Given the description of an element on the screen output the (x, y) to click on. 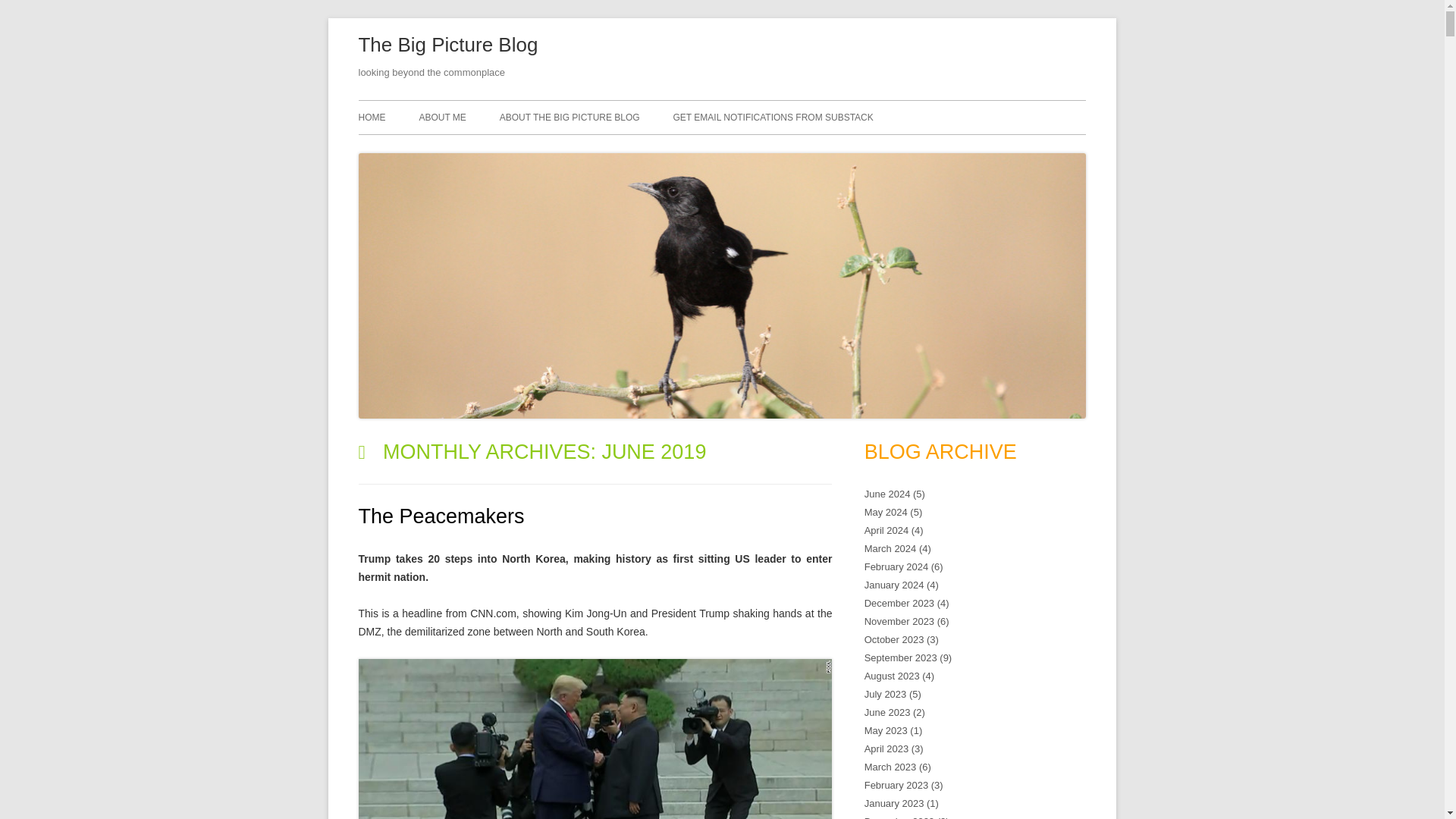
The Big Picture Blog (447, 45)
ABOUT ME (442, 117)
The Big Picture Blog (447, 45)
GET EMAIL NOTIFICATIONS FROM SUBSTACK (772, 117)
The Peacemakers (441, 516)
ABOUT THE BIG PICTURE BLOG (569, 117)
